Given the description of an element on the screen output the (x, y) to click on. 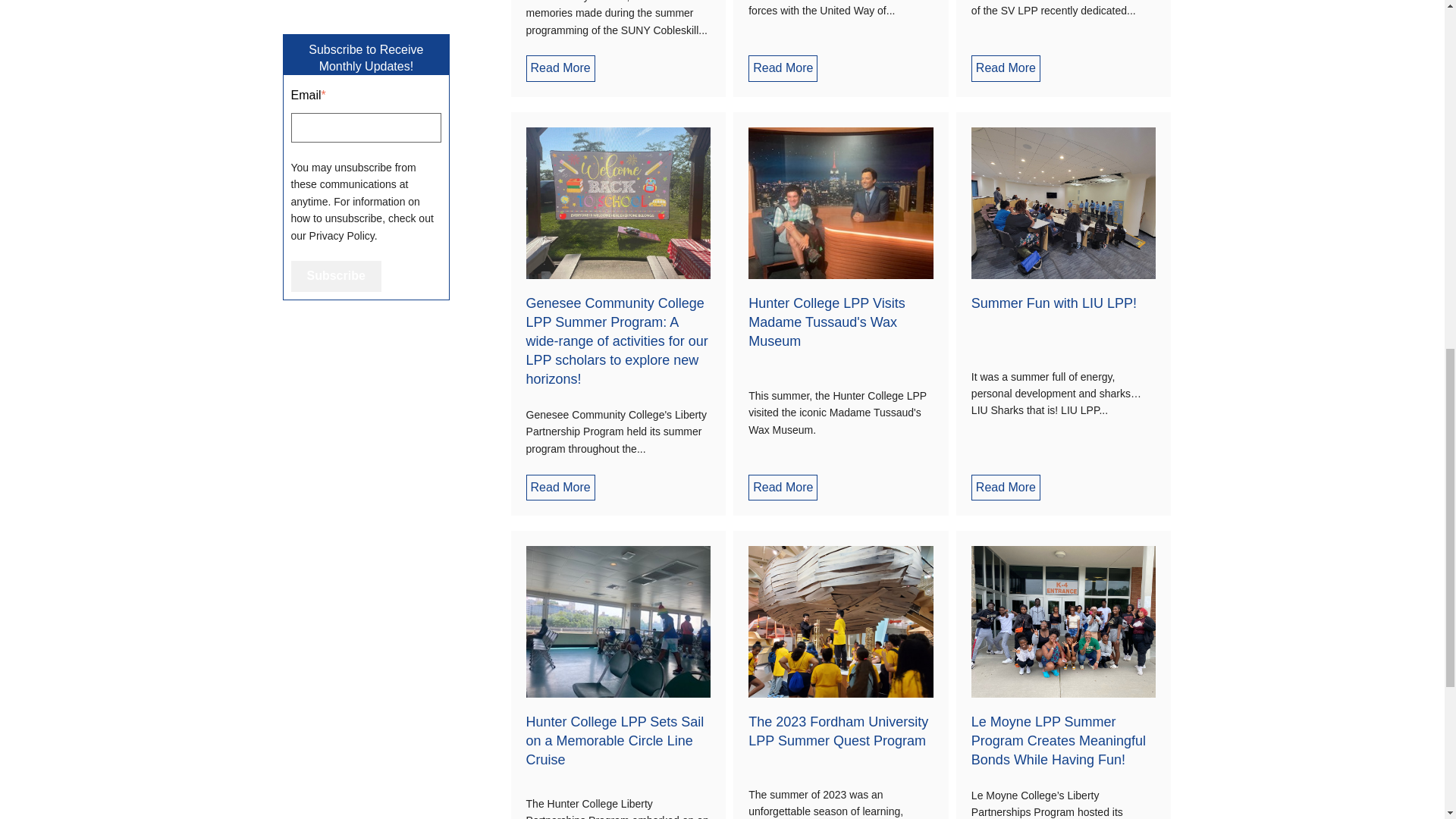
Subscribe (336, 276)
Subscribe (336, 276)
Read More (1006, 68)
Read More (560, 487)
Read More (560, 68)
Read More (782, 68)
Hunter College LPP Visits Madame Tussaud's Wax Museum (826, 321)
